Given the description of an element on the screen output the (x, y) to click on. 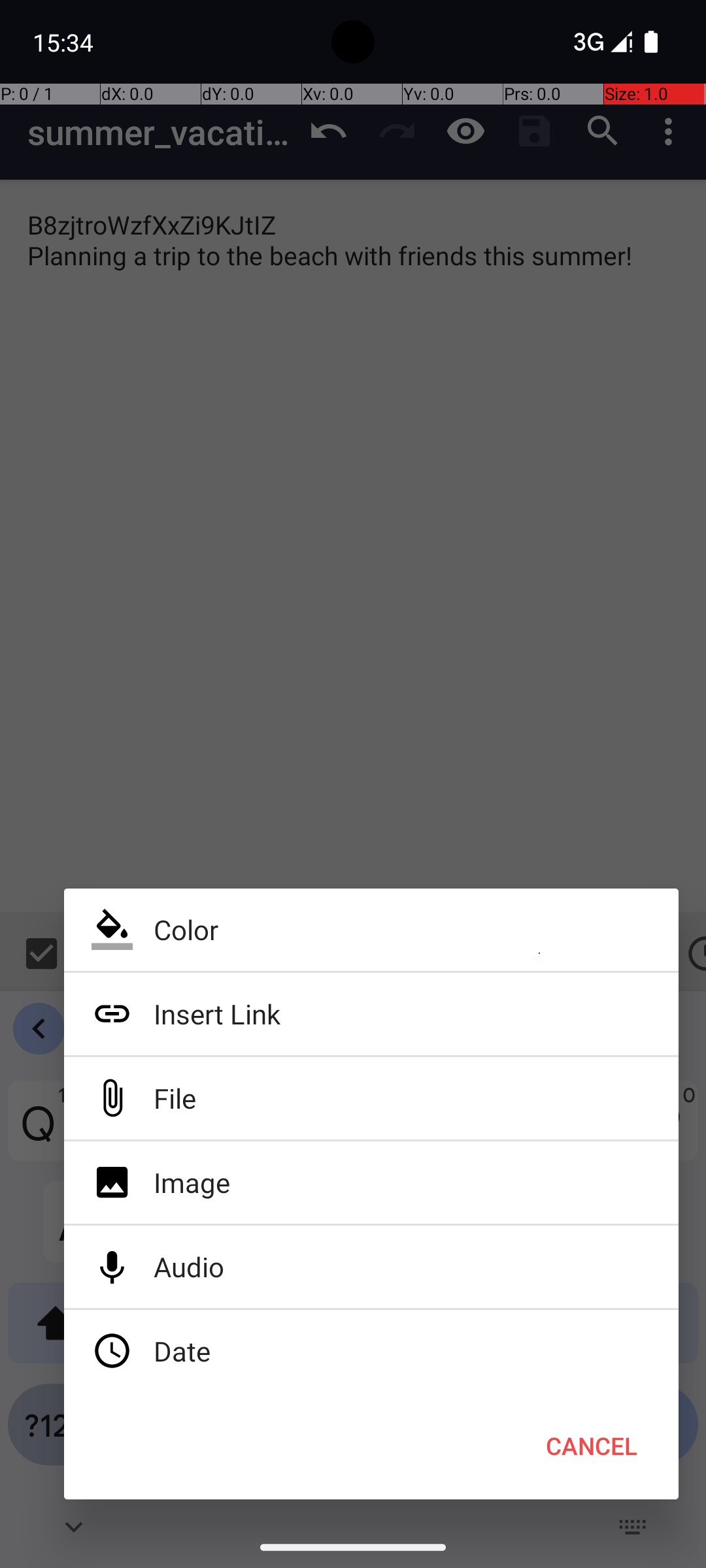
File Element type: android.widget.TextView (371, 1098)
Image Element type: android.widget.TextView (371, 1182)
